Given the description of an element on the screen output the (x, y) to click on. 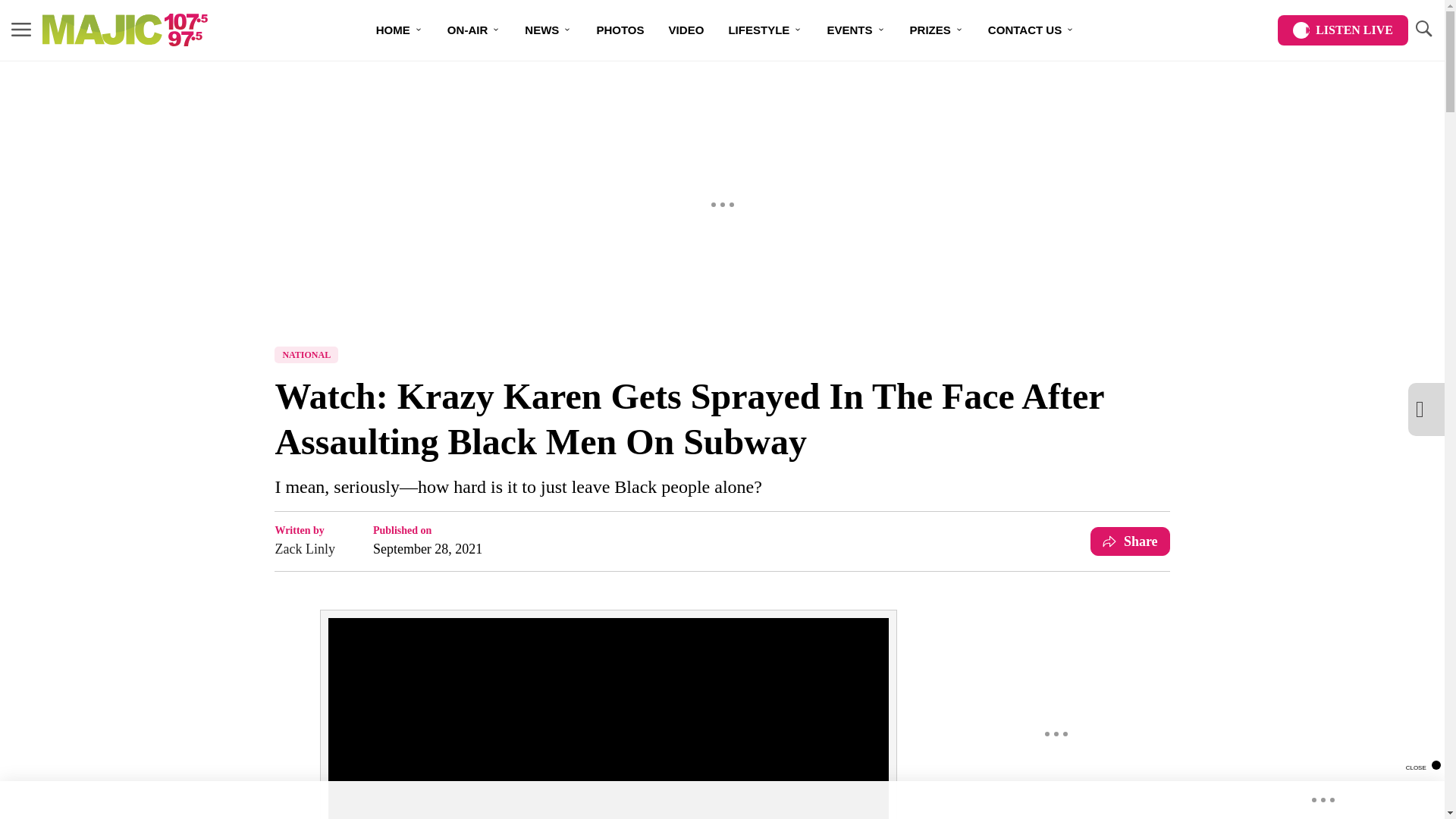
PRIZES (936, 30)
TOGGLE SEARCH (1422, 30)
LIFESTYLE (764, 30)
CONTACT US (1030, 30)
LISTEN LIVE (1342, 30)
ON-AIR (473, 30)
VIDEO (686, 30)
TOGGLE SEARCH (1422, 28)
NEWS (547, 30)
EVENTS (854, 30)
